Given the description of an element on the screen output the (x, y) to click on. 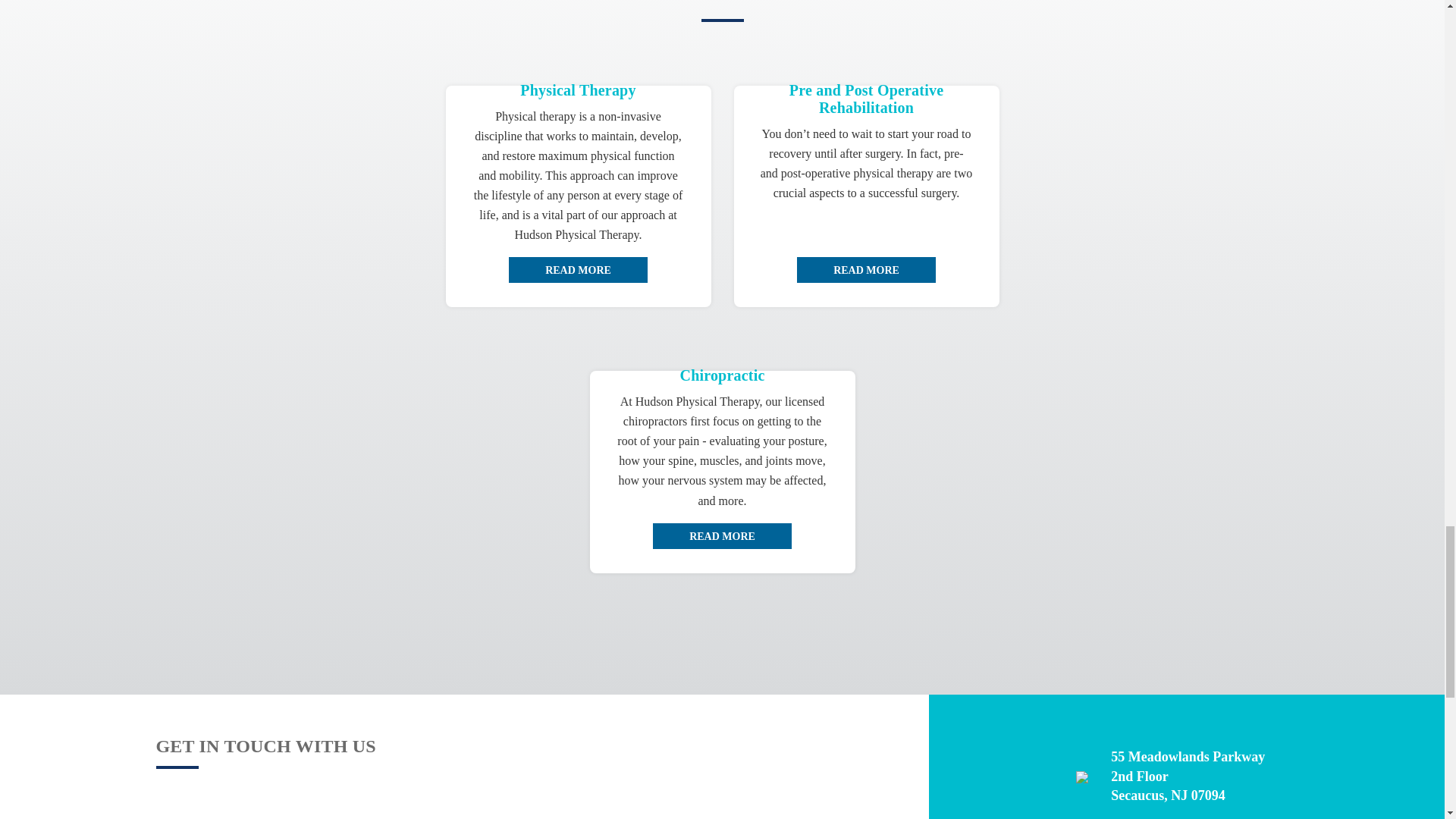
READ MORE (866, 269)
READ MORE (722, 535)
READ MORE (577, 269)
